Given the description of an element on the screen output the (x, y) to click on. 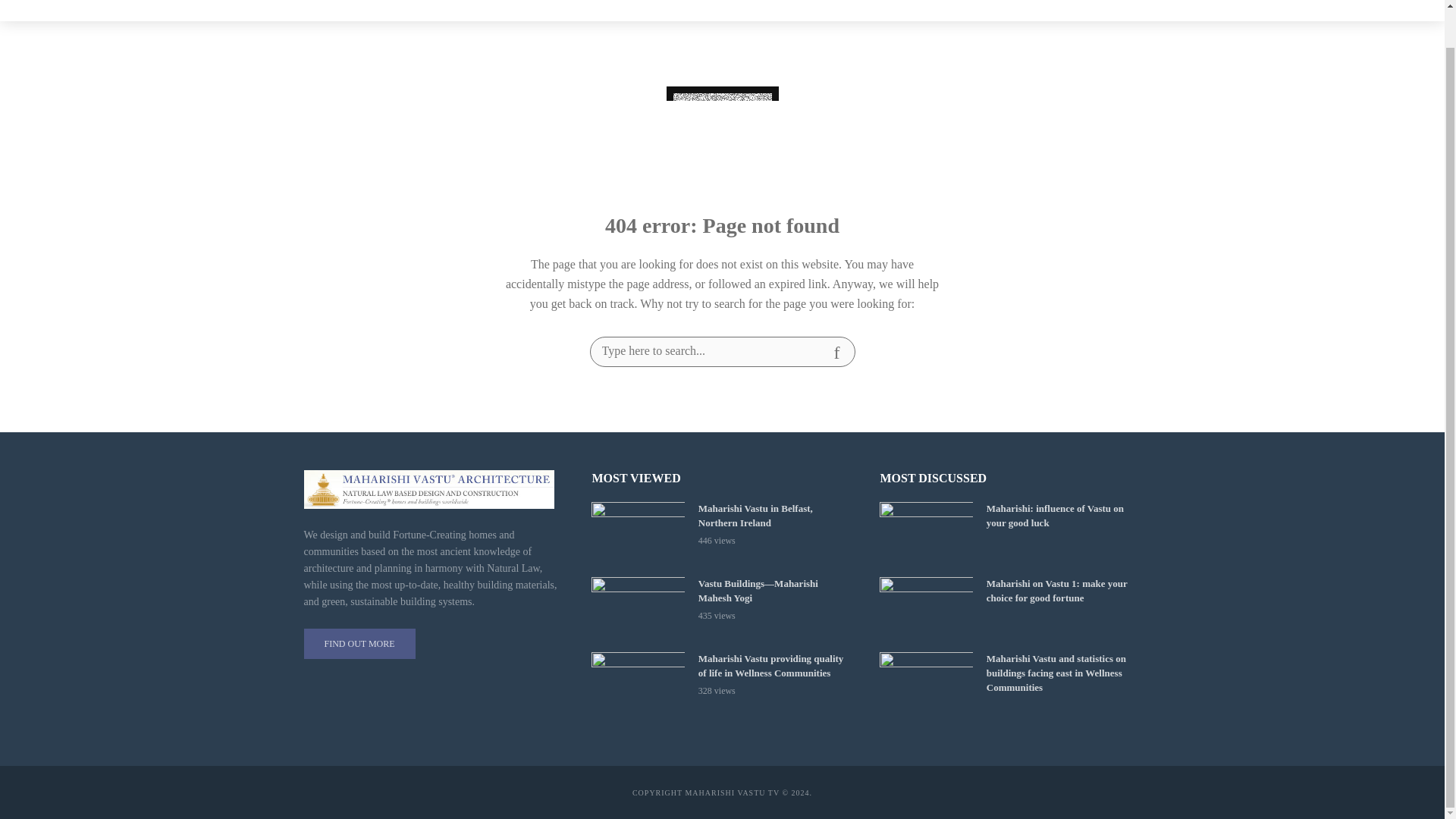
CONTACT (760, 4)
FIND OUT MORE (358, 643)
PRIVACY IMPRINT (853, 4)
Maharishi: influence of Vastu on your good luck (925, 532)
VASTU (697, 4)
MAHARISHI (628, 4)
Maharishi Vastu in Belfast, Northern Ireland (775, 516)
Maharishi Vastu in Belfast, Northern Ireland (637, 532)
Maharishi on Vastu 1: make your choice for good fortune (925, 607)
HOME (561, 4)
